Given the description of an element on the screen output the (x, y) to click on. 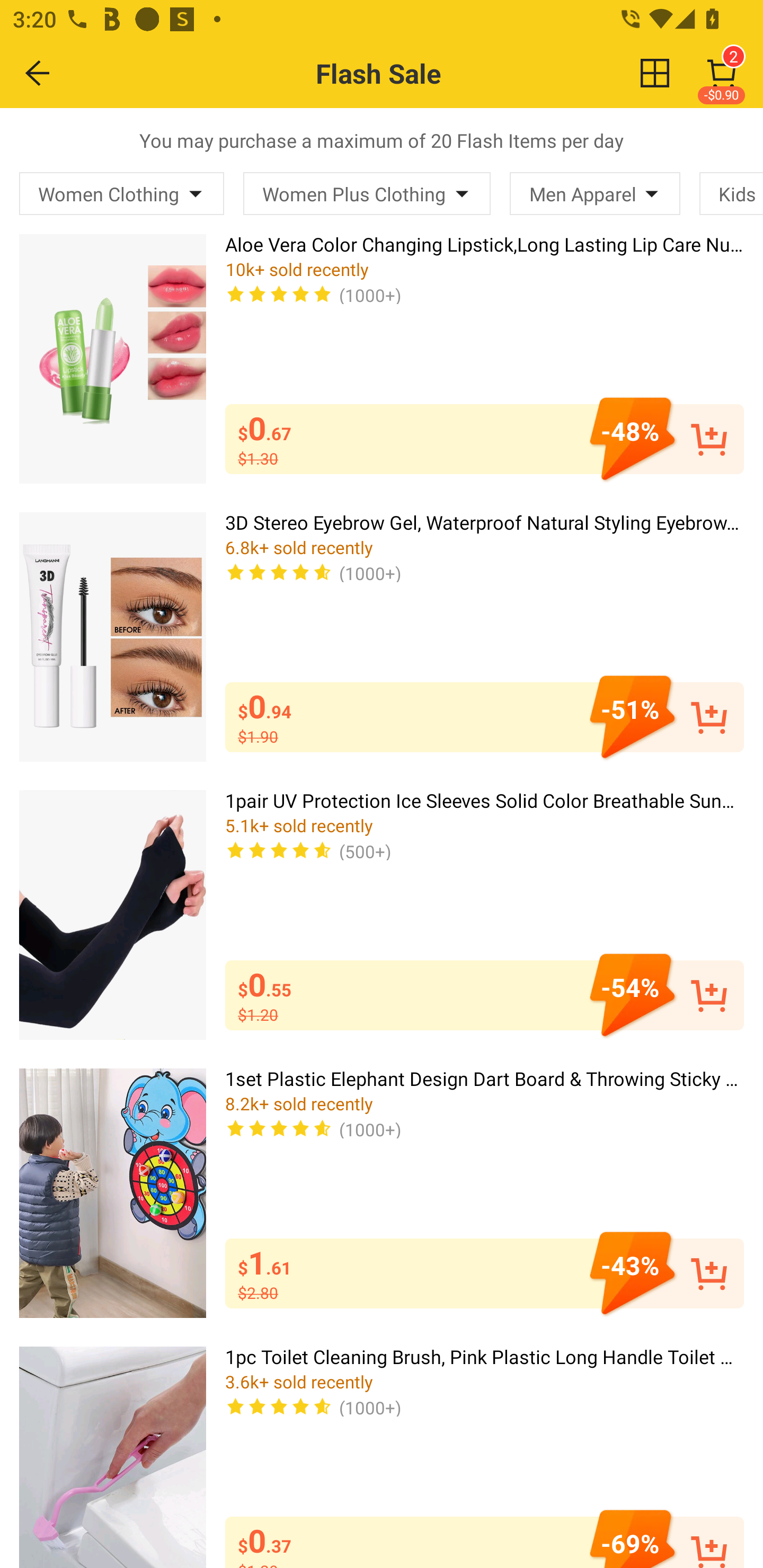
Flash Sale change view 2 -$0.90 (419, 72)
2 -$0.90 (721, 72)
change view (654, 72)
BACK (38, 72)
Women Clothing (121, 193)
Women Plus Clothing (366, 193)
Men Apparel (594, 193)
Kids (731, 193)
